Given the description of an element on the screen output the (x, y) to click on. 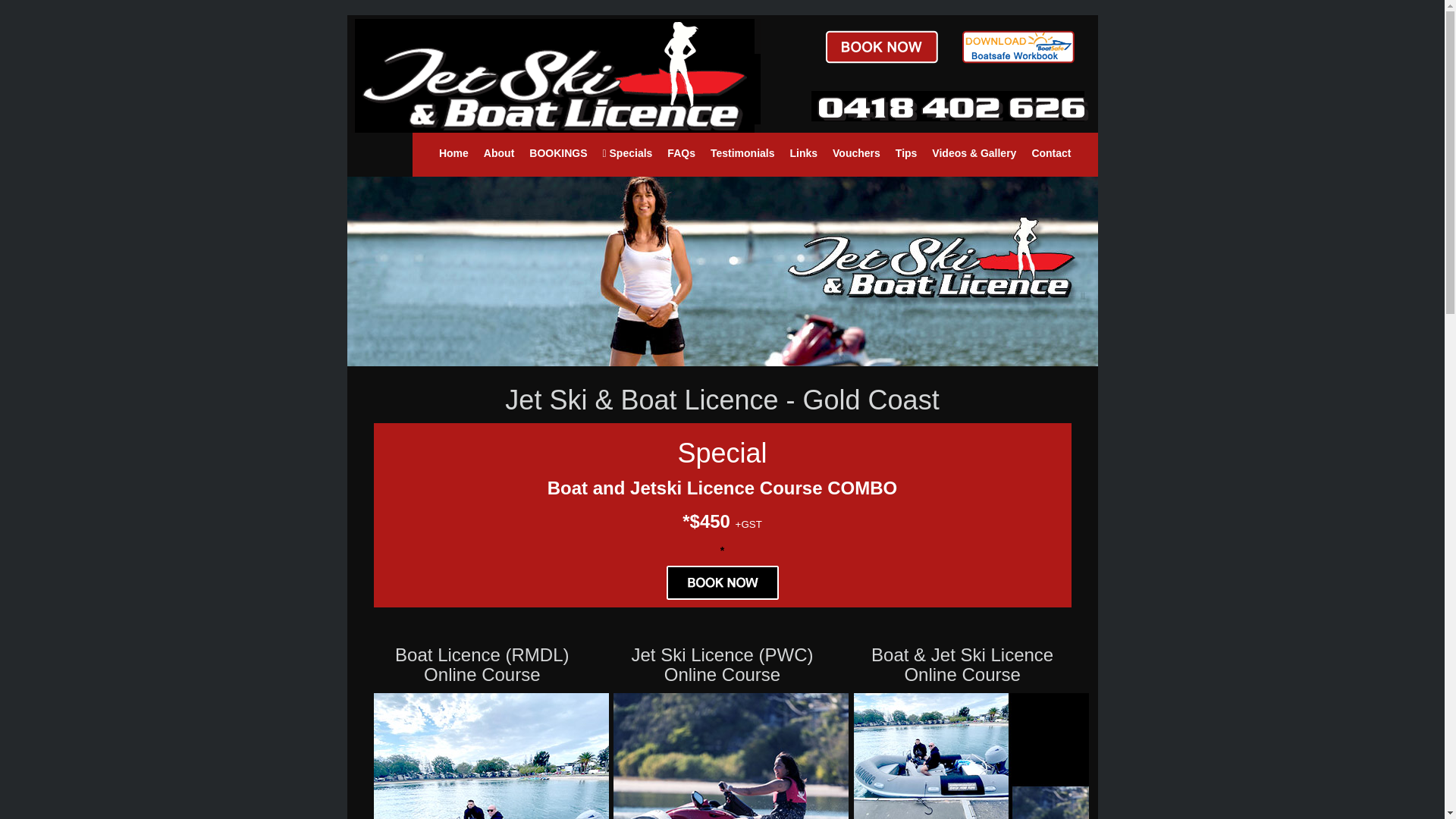
Videos & Gallery Element type: text (973, 153)
Tips Element type: text (906, 153)
Links Element type: text (803, 153)
Testimonials Element type: text (742, 153)
Home Element type: text (453, 153)
Contact Element type: text (1050, 153)
About Element type: text (498, 153)
BOOKINGS Element type: text (557, 153)
Vouchers Element type: text (856, 153)
FAQs Element type: text (680, 153)
